Given the description of an element on the screen output the (x, y) to click on. 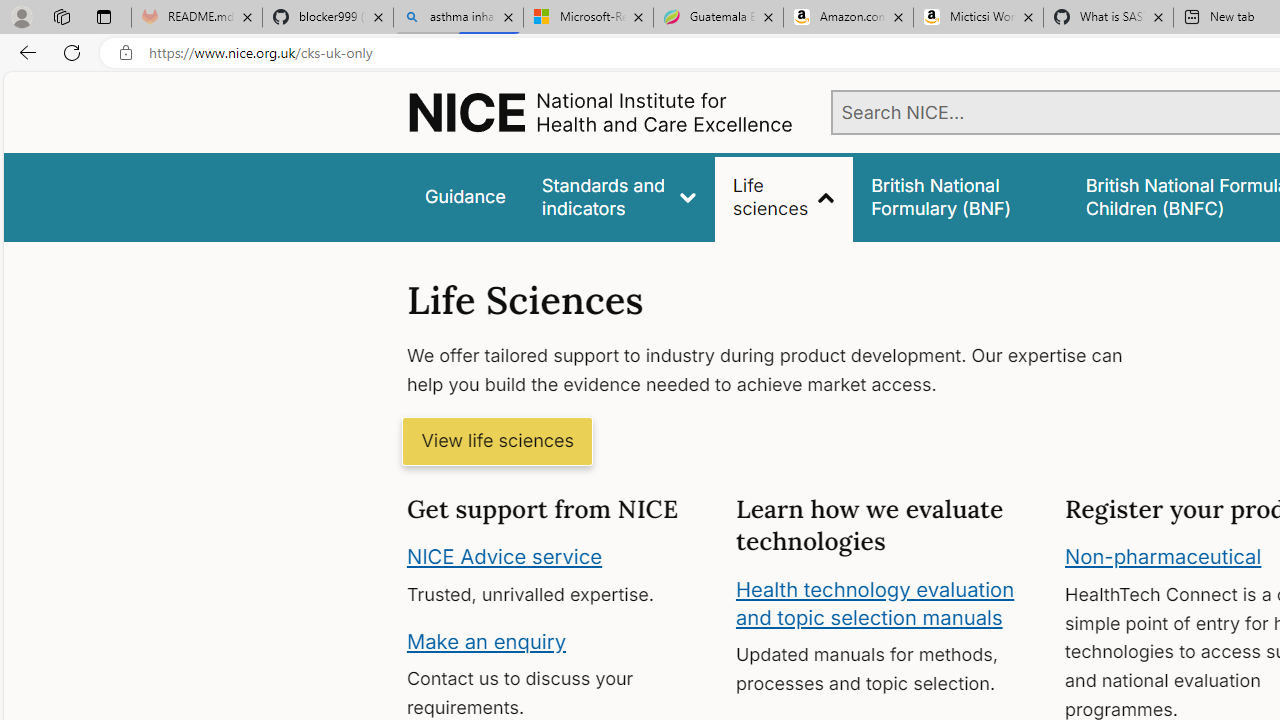
Life sciences (783, 196)
Health technology evaluation and topic selection manuals (874, 603)
NICE Advice service (503, 557)
false (959, 196)
asthma inhaler - Search (458, 17)
